Given the description of an element on the screen output the (x, y) to click on. 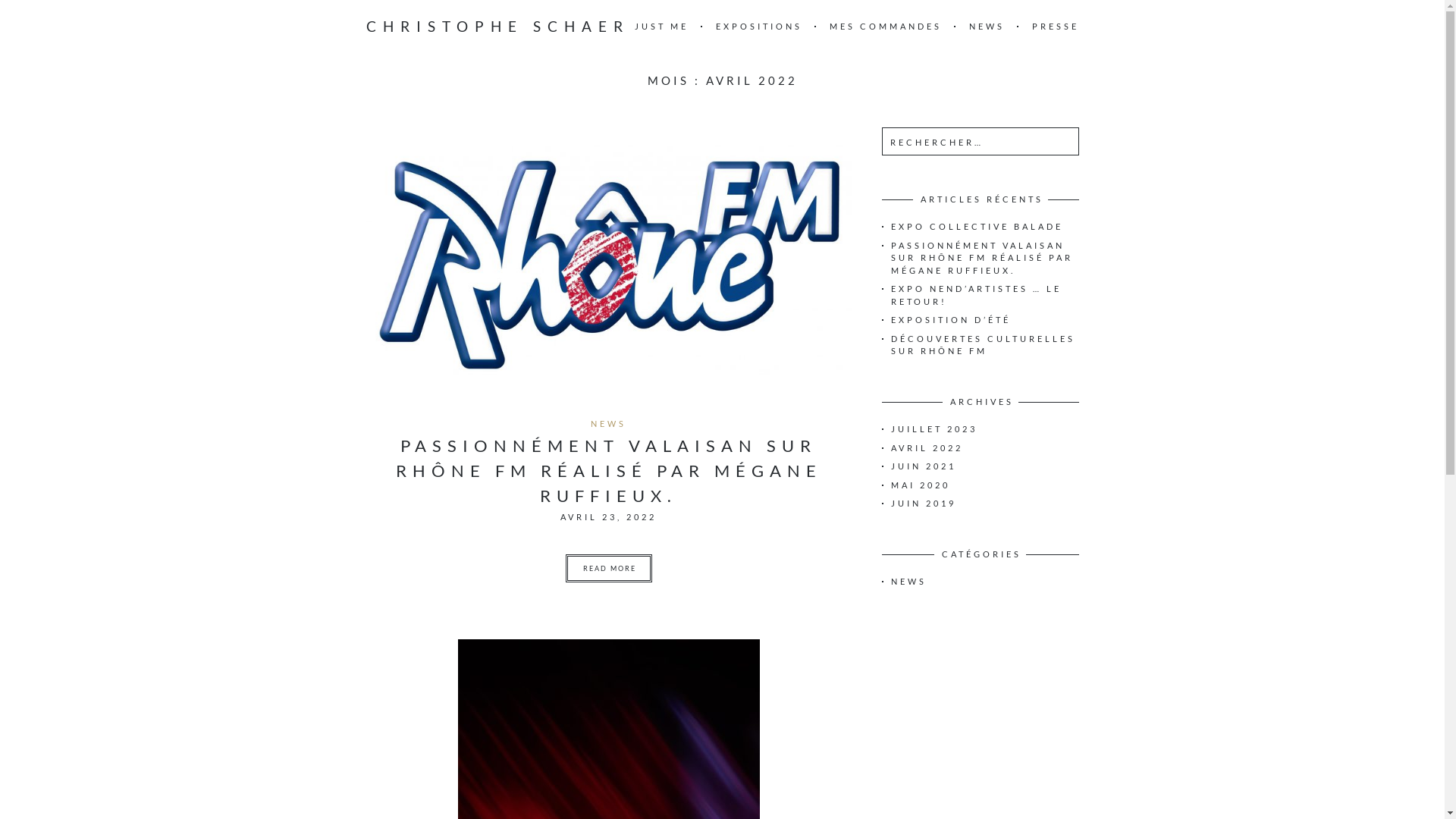
AVRIL 2022 Element type: text (926, 447)
EXPO COLLECTIVE BALADE Element type: text (976, 226)
CHRISTOPHE SCHAER Element type: text (496, 26)
JUST ME Element type: text (660, 26)
JUIN 2019 Element type: text (922, 503)
MAI 2020 Element type: text (919, 484)
JUILLET 2023 Element type: text (933, 428)
NEWS Element type: text (608, 423)
EXPOSITIONS Element type: text (758, 26)
Rechercher Element type: text (46, 14)
PRESSE Element type: text (1054, 26)
MES COMMANDES Element type: text (885, 26)
NEWS Element type: text (907, 581)
READ MORE Element type: text (608, 568)
JUIN 2021 Element type: text (922, 465)
NEWS Element type: text (986, 26)
